Given the description of an element on the screen output the (x, y) to click on. 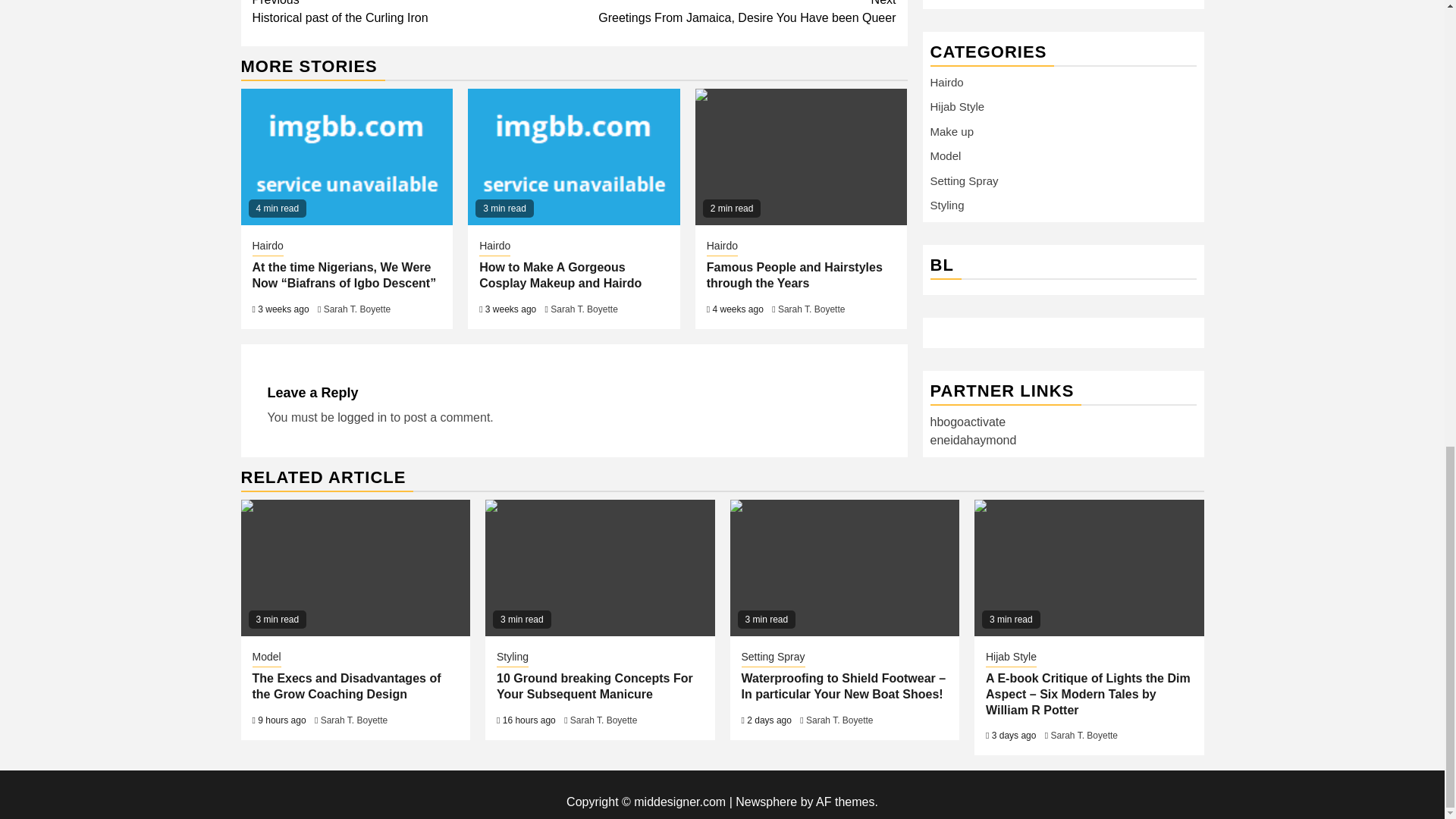
Sarah T. Boyette (583, 308)
10 Ground breaking Concepts For Your Subsequent Manicure (599, 567)
logged in (362, 417)
Sarah T. Boyette (357, 308)
Famous People and Hairstyles through the Years (794, 275)
How to Make A Gorgeous Cosplay Makeup and Hairdo (560, 275)
Famous People and Hairstyles through the Years (734, 13)
Sarah T. Boyette (801, 156)
How to Make A Gorgeous Cosplay Makeup and Hairdo (412, 13)
Hairdo (811, 308)
The Execs and Disadvantages of the Grow Coaching Design (573, 156)
Hairdo (266, 247)
Hairdo (355, 567)
